Given the description of an element on the screen output the (x, y) to click on. 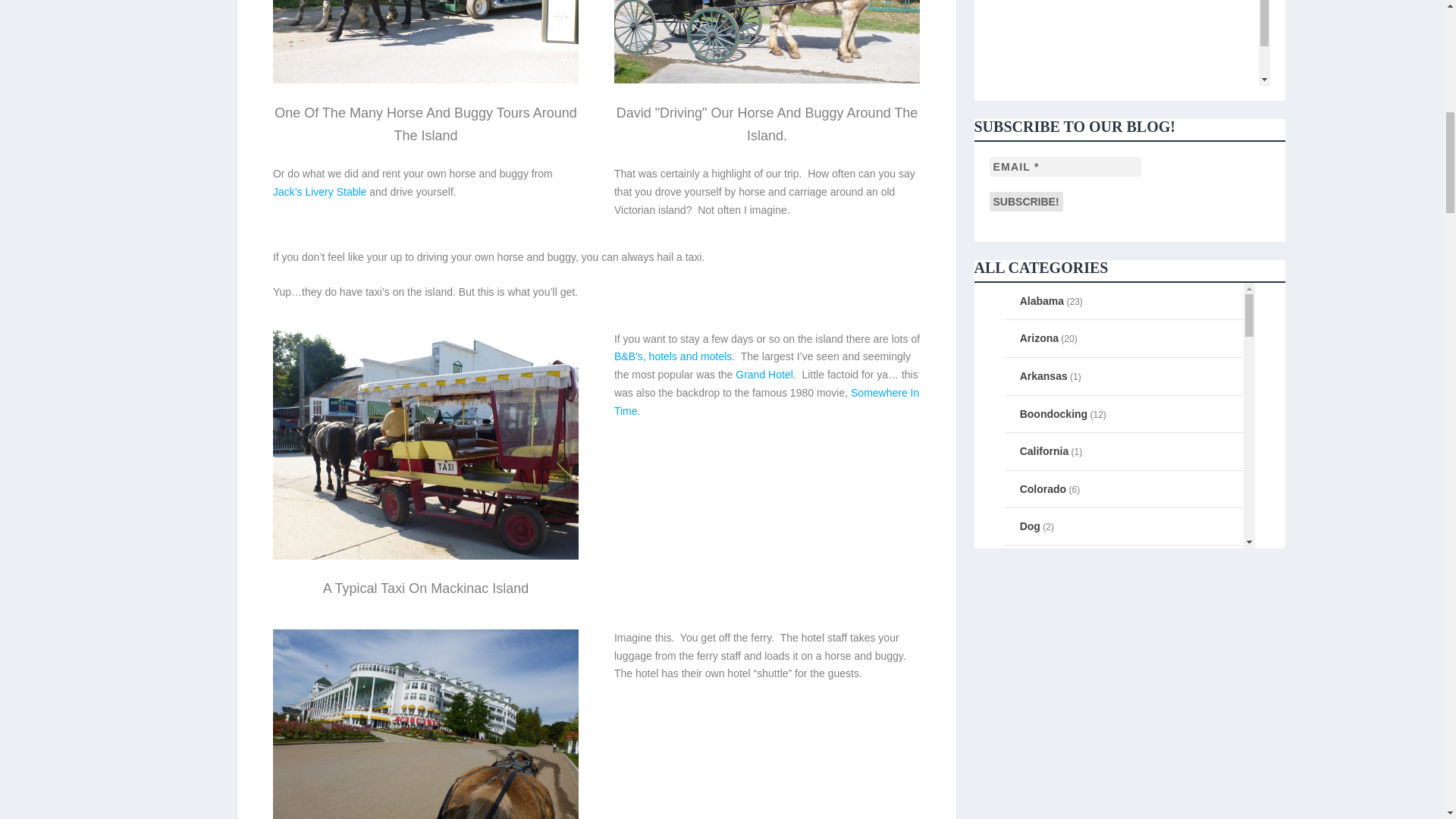
A Typical Taxi On Mackinac Island (425, 444)
One Of The Many Horse And Buggy Tours Around The Island (425, 41)
Somewhere In Time (766, 401)
A Typical Taxi On Mackinac Island (425, 555)
David "Driving" Our Horse And Buggy Around The Island. (767, 41)
Just Part Of The Grand Hotel On Mackinac Island (425, 724)
David "Driving" Our Horse And Buggy Around The Island. (767, 79)
One Of The Many Horse And Buggy Tours Around The Island (425, 79)
Subscribe! (1025, 201)
Grand Hotel (763, 374)
